Given the description of an element on the screen output the (x, y) to click on. 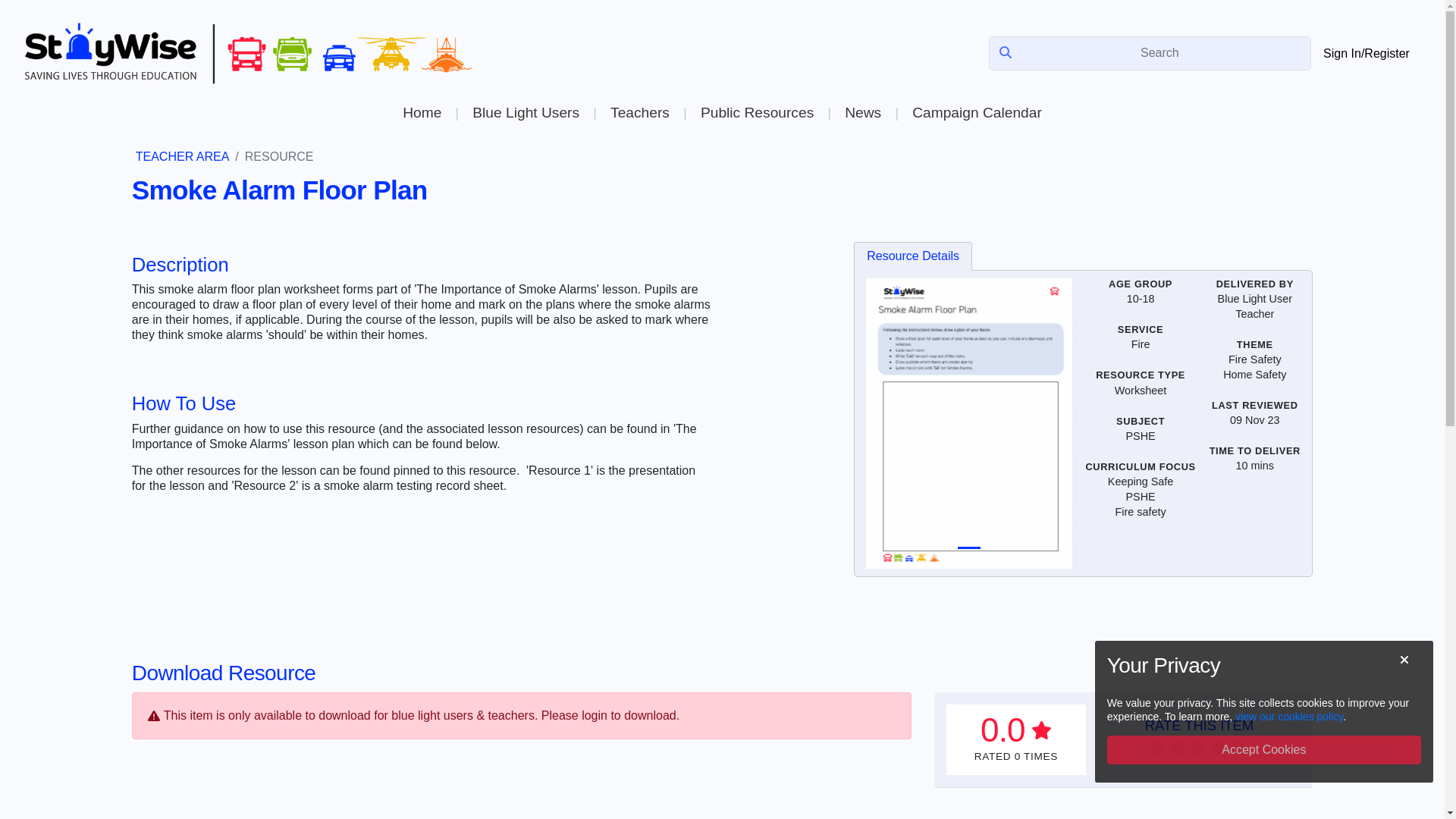
view our cookies policy (1288, 715)
TEACHER AREA (182, 155)
Teachers (639, 112)
Campaign Calendar (976, 112)
Resource Details (912, 256)
Blue Light Users (525, 112)
Home (421, 112)
Public Resources (756, 112)
Accept Cookies (1263, 749)
News (862, 112)
